Given the description of an element on the screen output the (x, y) to click on. 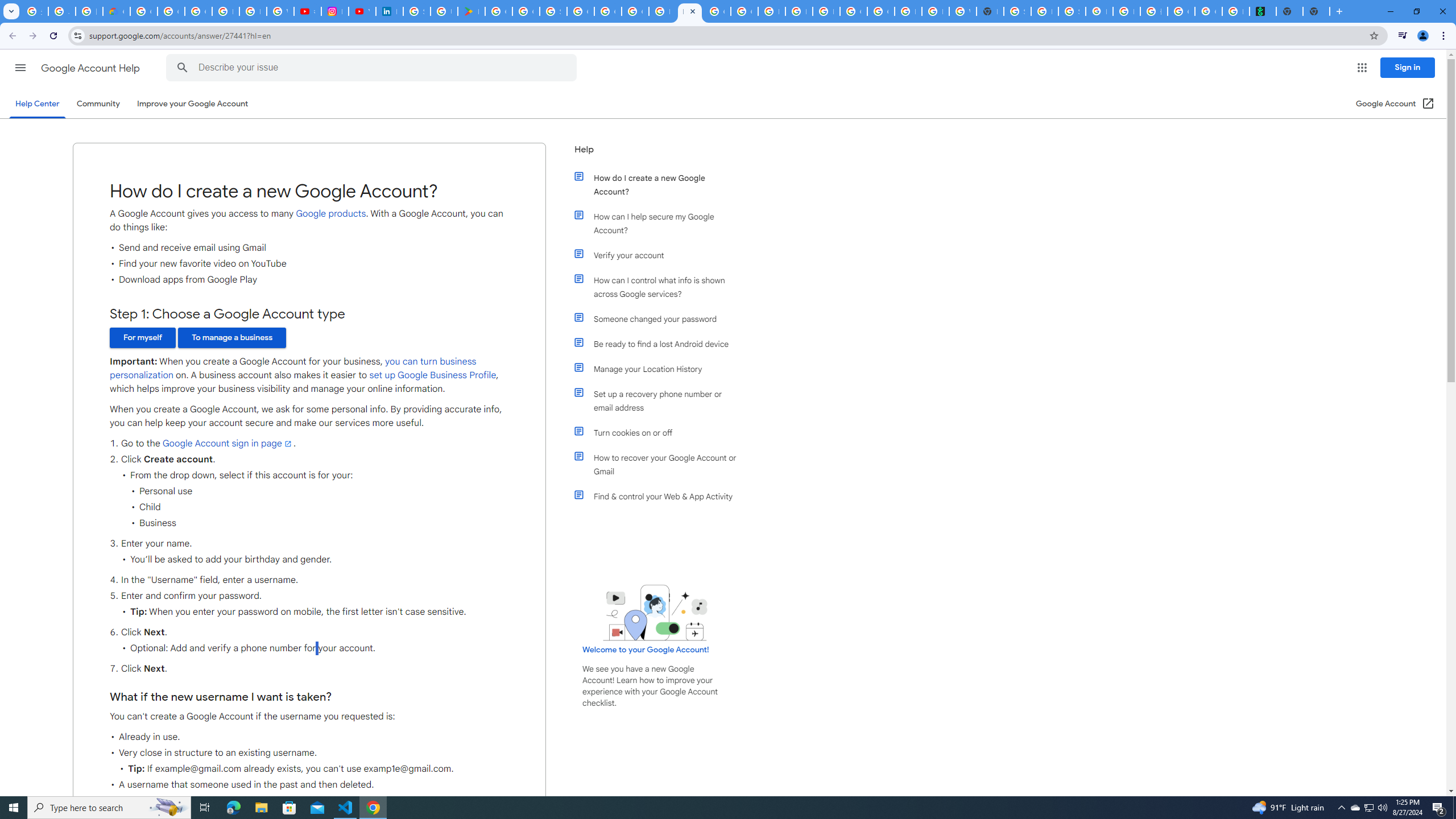
Sign in - Google Accounts (553, 11)
Google Account (Open in a new window) (1395, 103)
How do I create a new Google Account? - Google Account Help (690, 11)
Verify your account (661, 255)
Browse Chrome as a guest - Computer - Google Chrome Help (908, 11)
How to recover your Google Account or Gmail (661, 464)
Welcome to your Google Account! (645, 649)
